Given the description of an element on the screen output the (x, y) to click on. 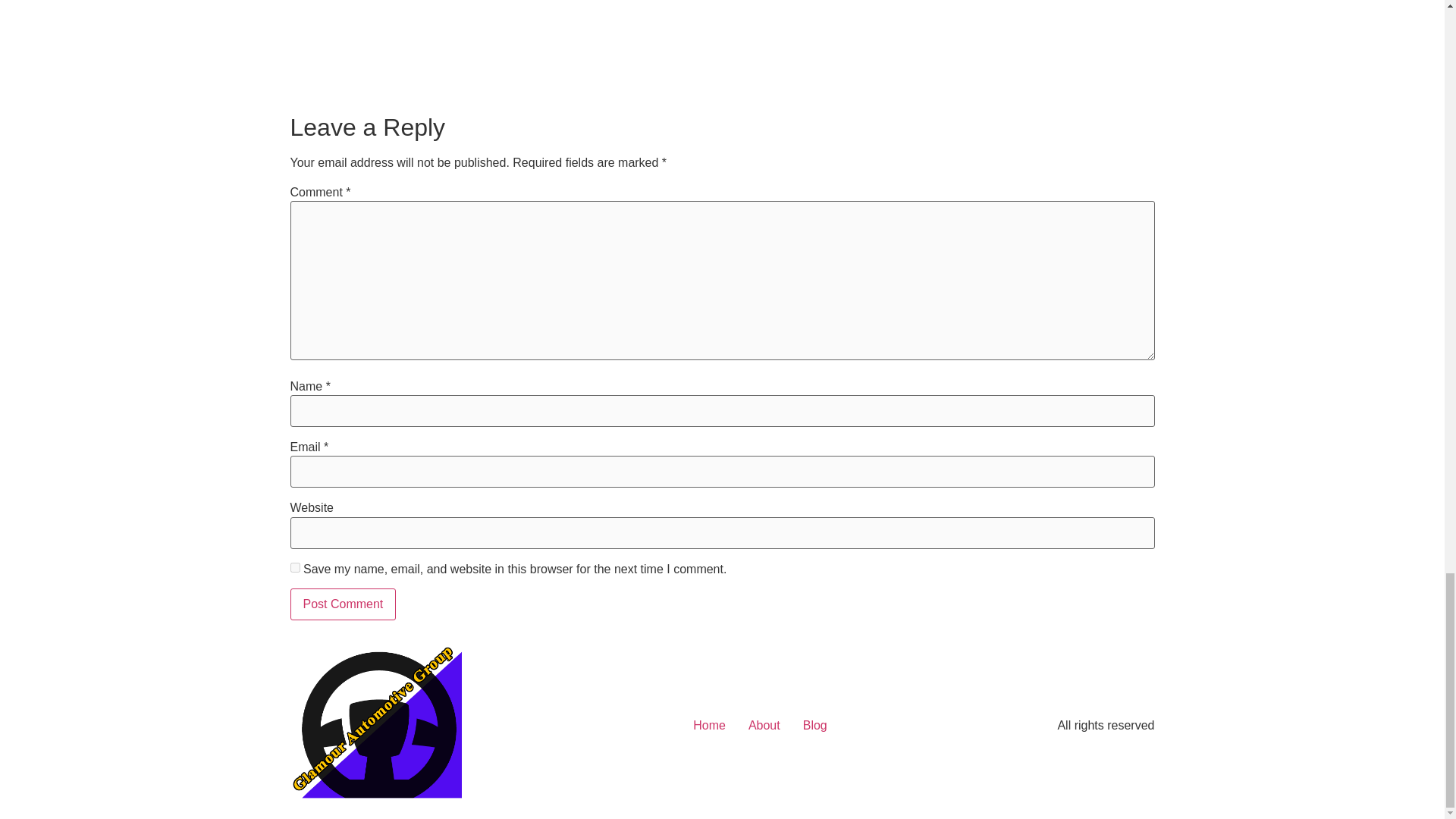
Post Comment (342, 603)
About (764, 725)
Home (708, 725)
Post Comment (342, 603)
Blog (815, 725)
yes (294, 567)
